Given the description of an element on the screen output the (x, y) to click on. 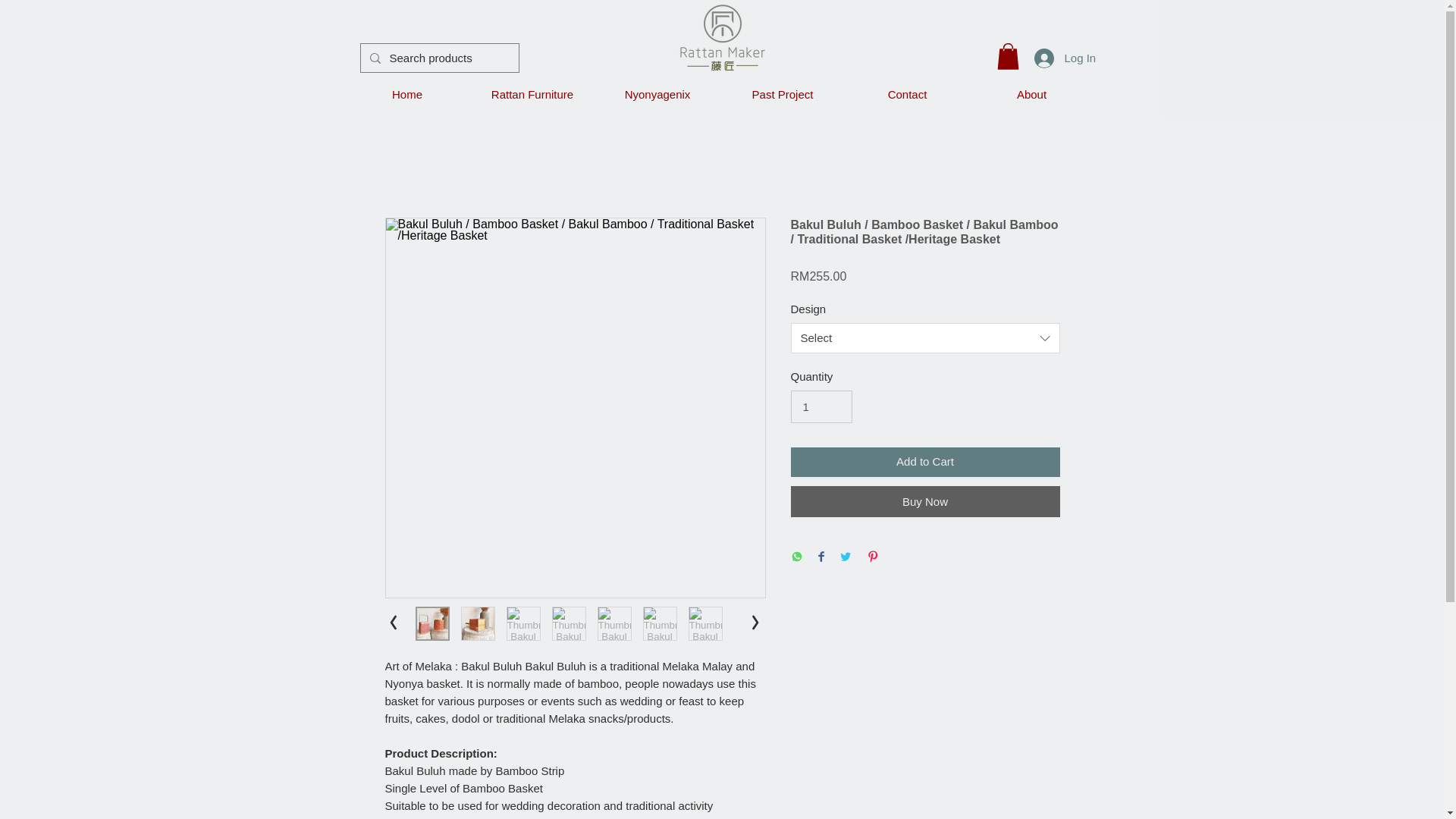
Add to Cart (924, 461)
Log In (1055, 58)
1 (820, 407)
Select (924, 337)
Rattan Furniture (532, 94)
About (1031, 94)
Home (405, 94)
Nyonyagenix (656, 94)
Past Project (782, 94)
Contact (906, 94)
